Given the description of an element on the screen output the (x, y) to click on. 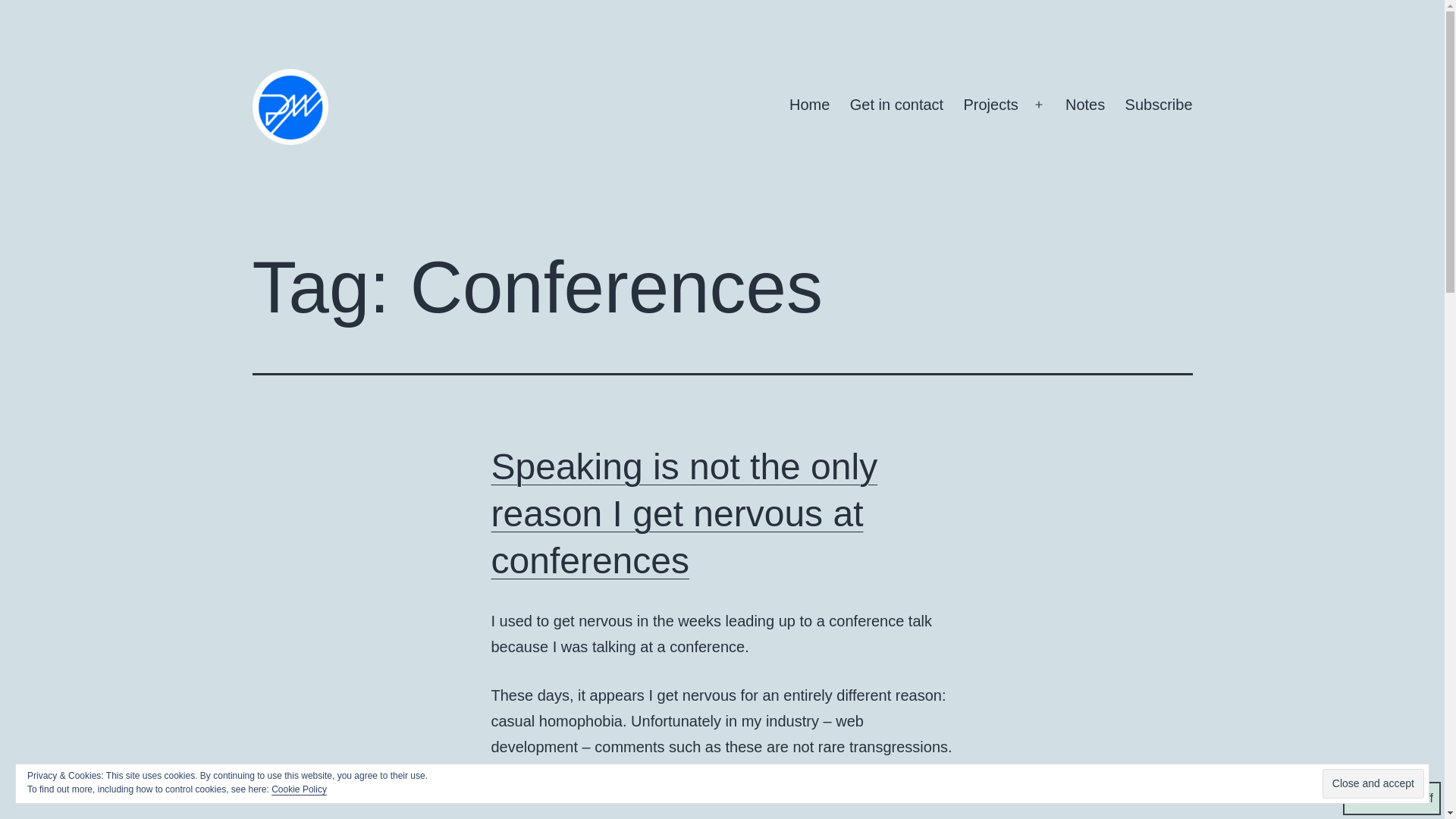
Dark Mode: (1391, 798)
Subscribe (1158, 105)
Home (809, 105)
Close and accept (1372, 783)
Notes (1085, 105)
Speaking is not the only reason I get nervous at conferences (684, 513)
Projects (990, 105)
Get in contact (896, 105)
Close and accept (1372, 783)
